Given the description of an element on the screen output the (x, y) to click on. 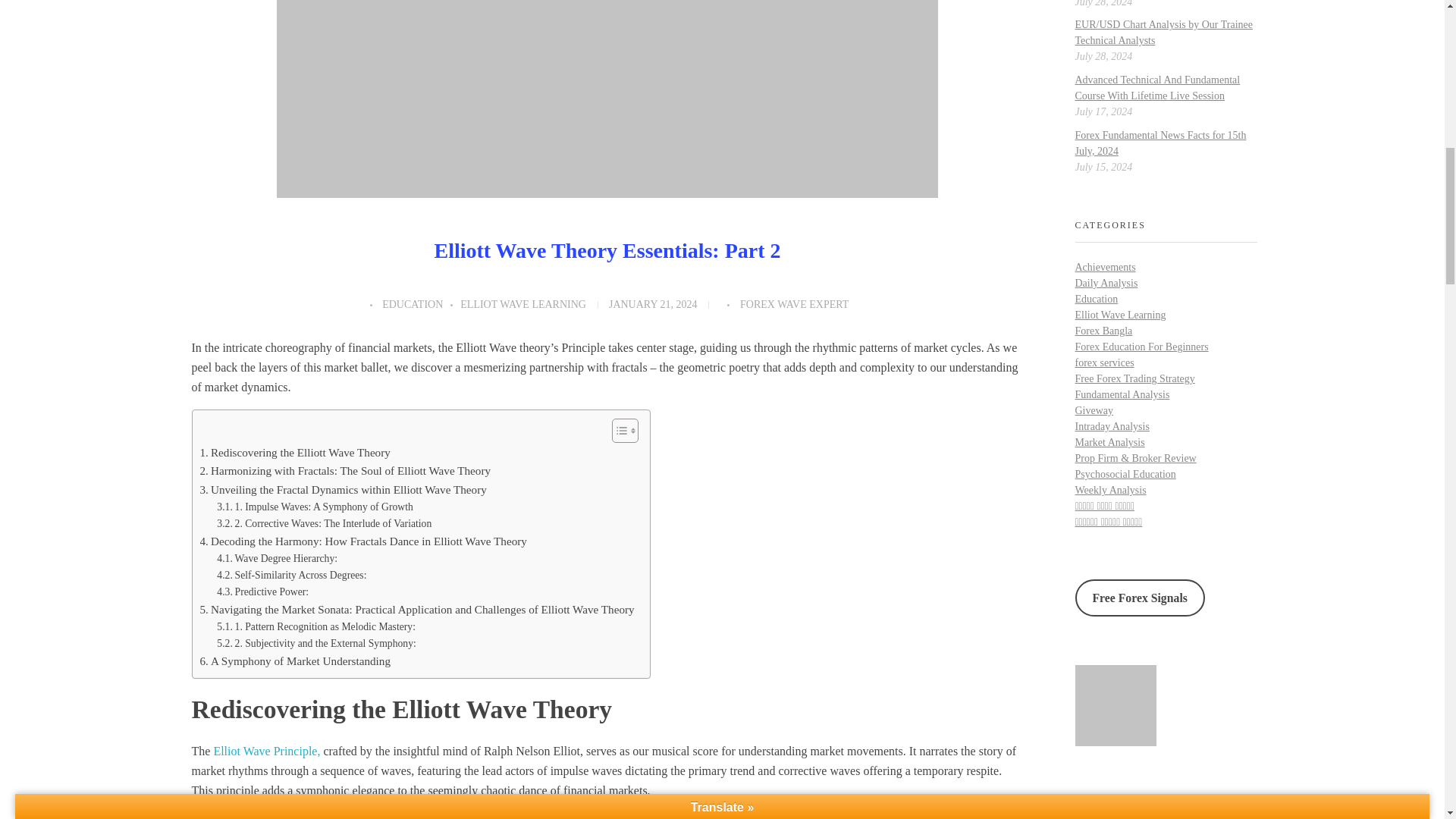
View all posts in Elliot Wave Learning (523, 304)
1. Pattern Recognition as Melodic Mastery: (315, 627)
EDUCATION (420, 304)
Wave Degree Hierarchy: (276, 558)
Rediscovering the Elliott Wave Theory (295, 452)
1. Pattern Recognition as Melodic Mastery: (315, 627)
2. Corrective Waves: The Interlude of Variation (323, 523)
View all posts in Education (420, 304)
View all posts by forex wave expert (793, 304)
1. Impulse Waves: A Symphony of Growth (314, 506)
